Given the description of an element on the screen output the (x, y) to click on. 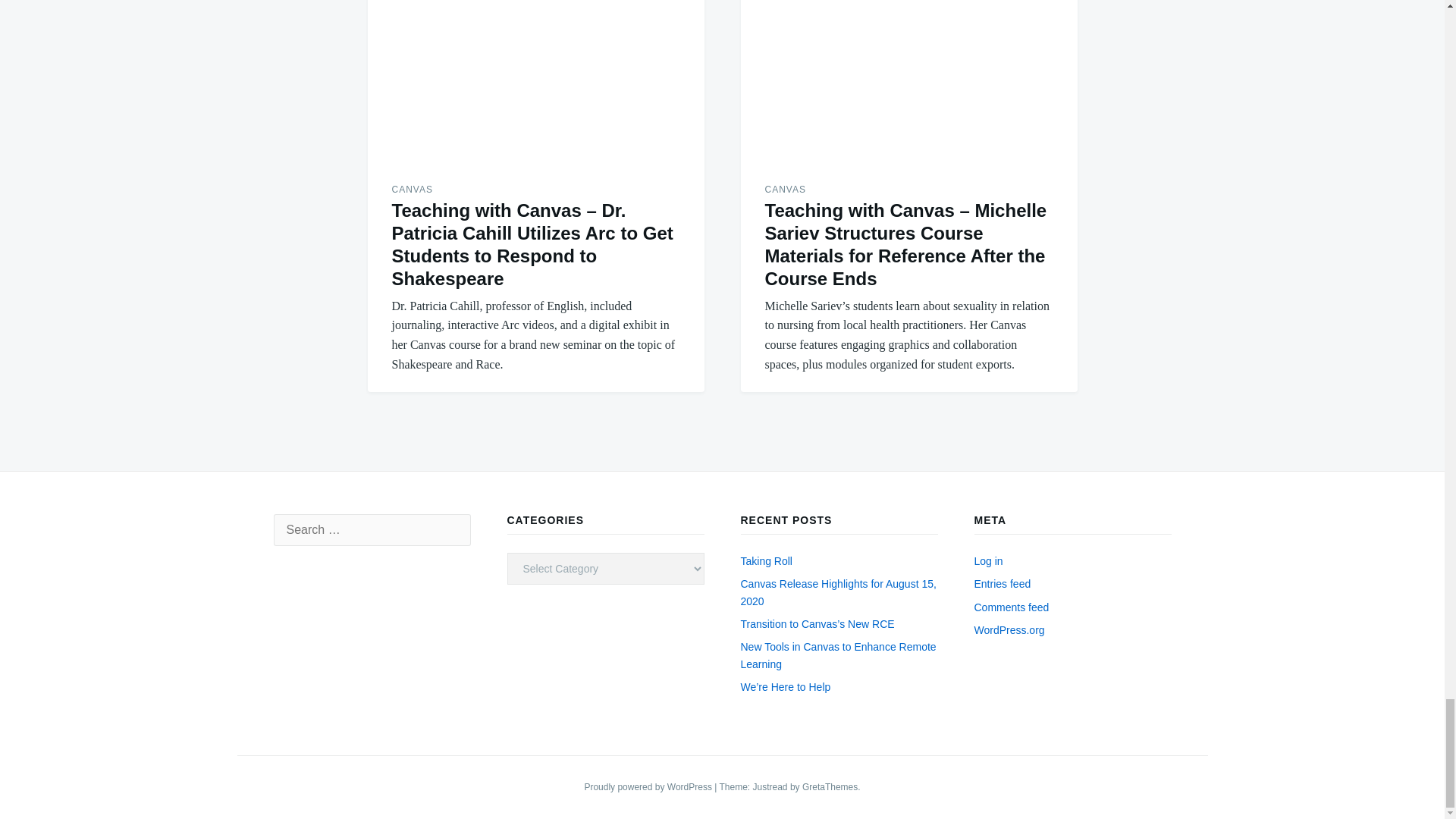
New Tools in Canvas to Enhance Remote Learning (837, 654)
Entries feed (1002, 583)
Comments feed (1011, 607)
GretaThemes (829, 787)
Taking Roll (765, 561)
Log in (988, 561)
WordPress.org (1008, 630)
Canvas Release Highlights for August 15, 2020 (837, 592)
CANVAS (411, 189)
Proudly powered by WordPress (648, 787)
CANVAS (784, 189)
